Given the description of an element on the screen output the (x, y) to click on. 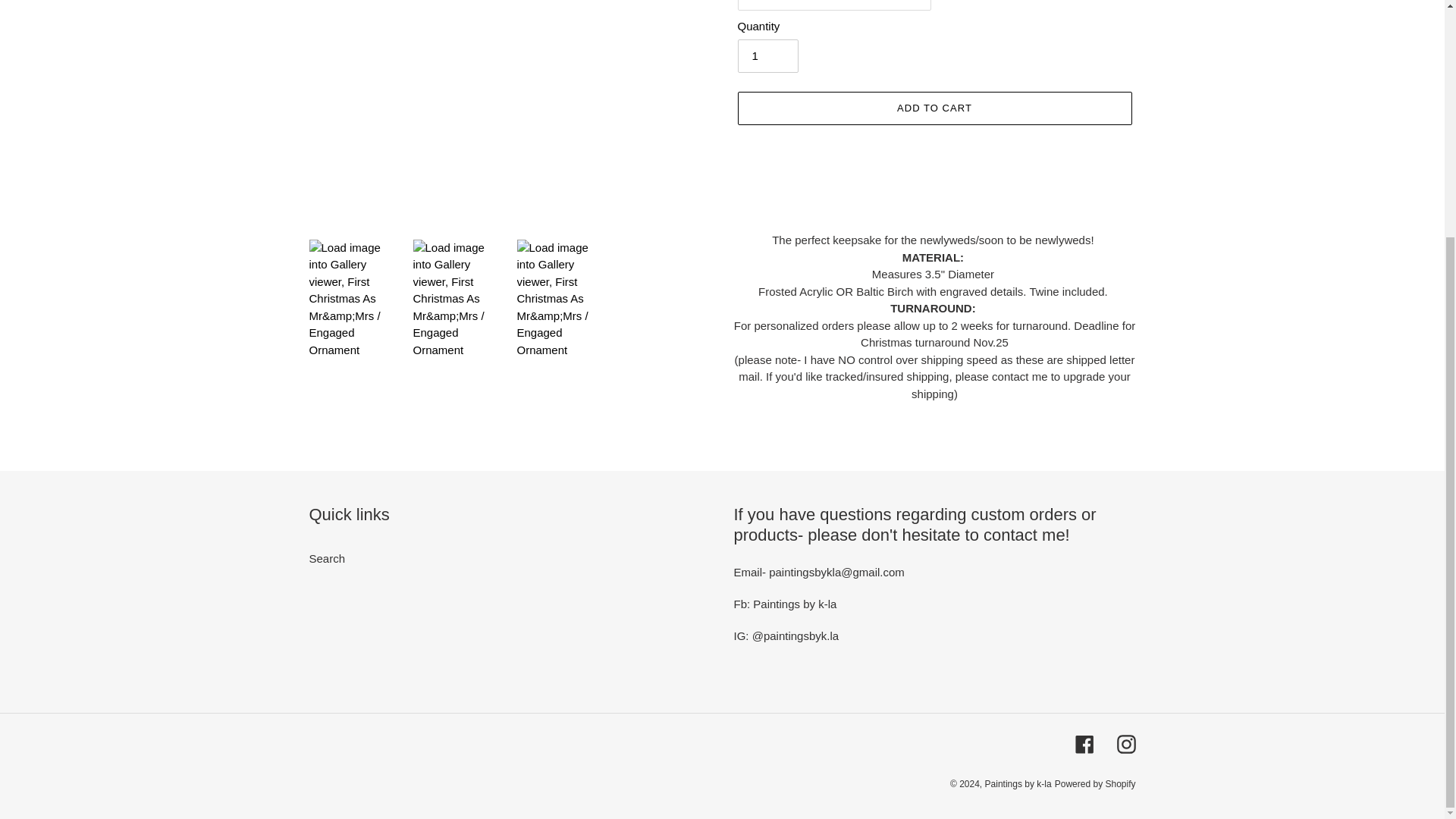
1 (766, 55)
